Given the description of an element on the screen output the (x, y) to click on. 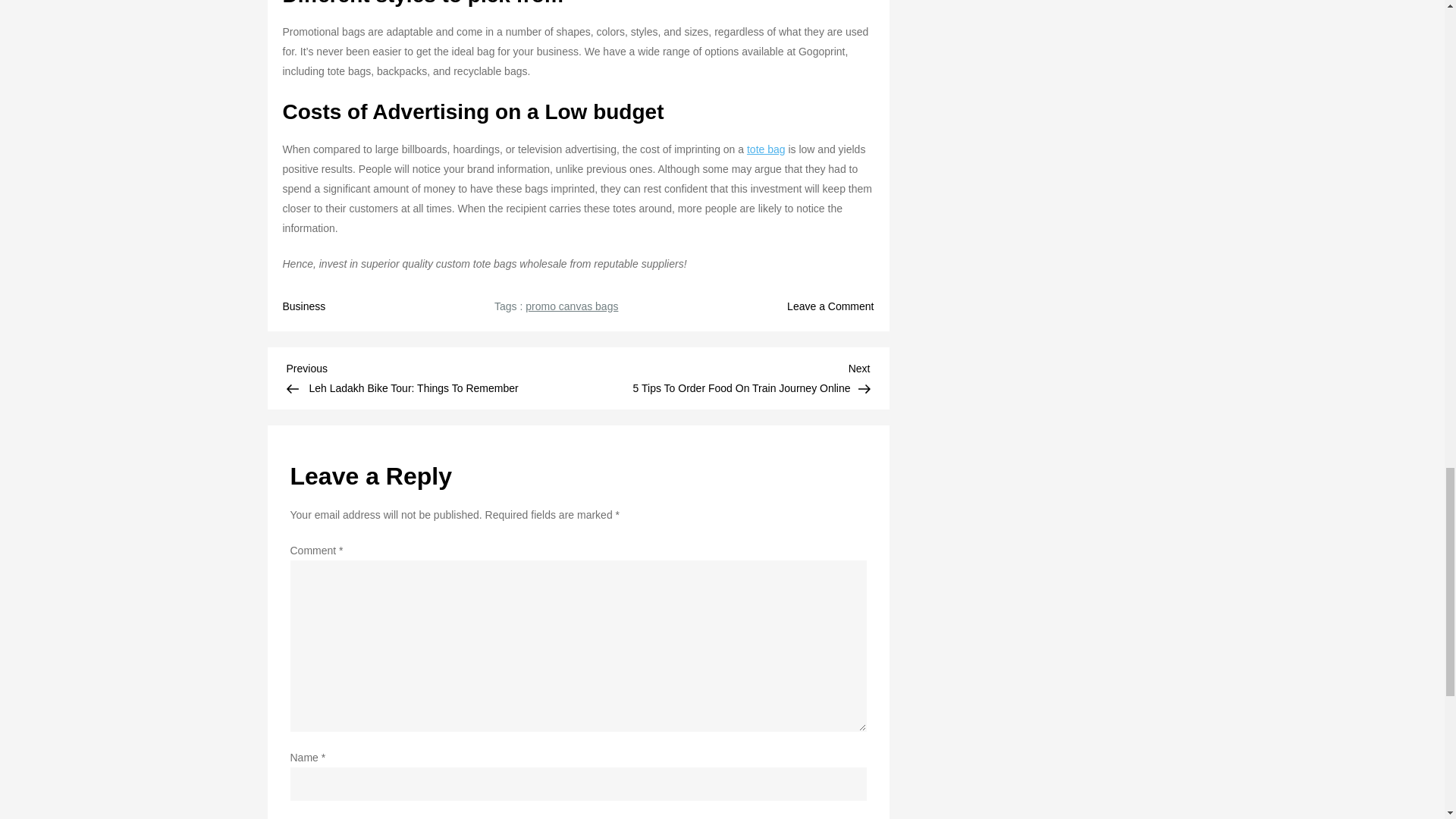
Business (303, 305)
tote bag (766, 149)
promo canvas bags (571, 306)
